Given the description of an element on the screen output the (x, y) to click on. 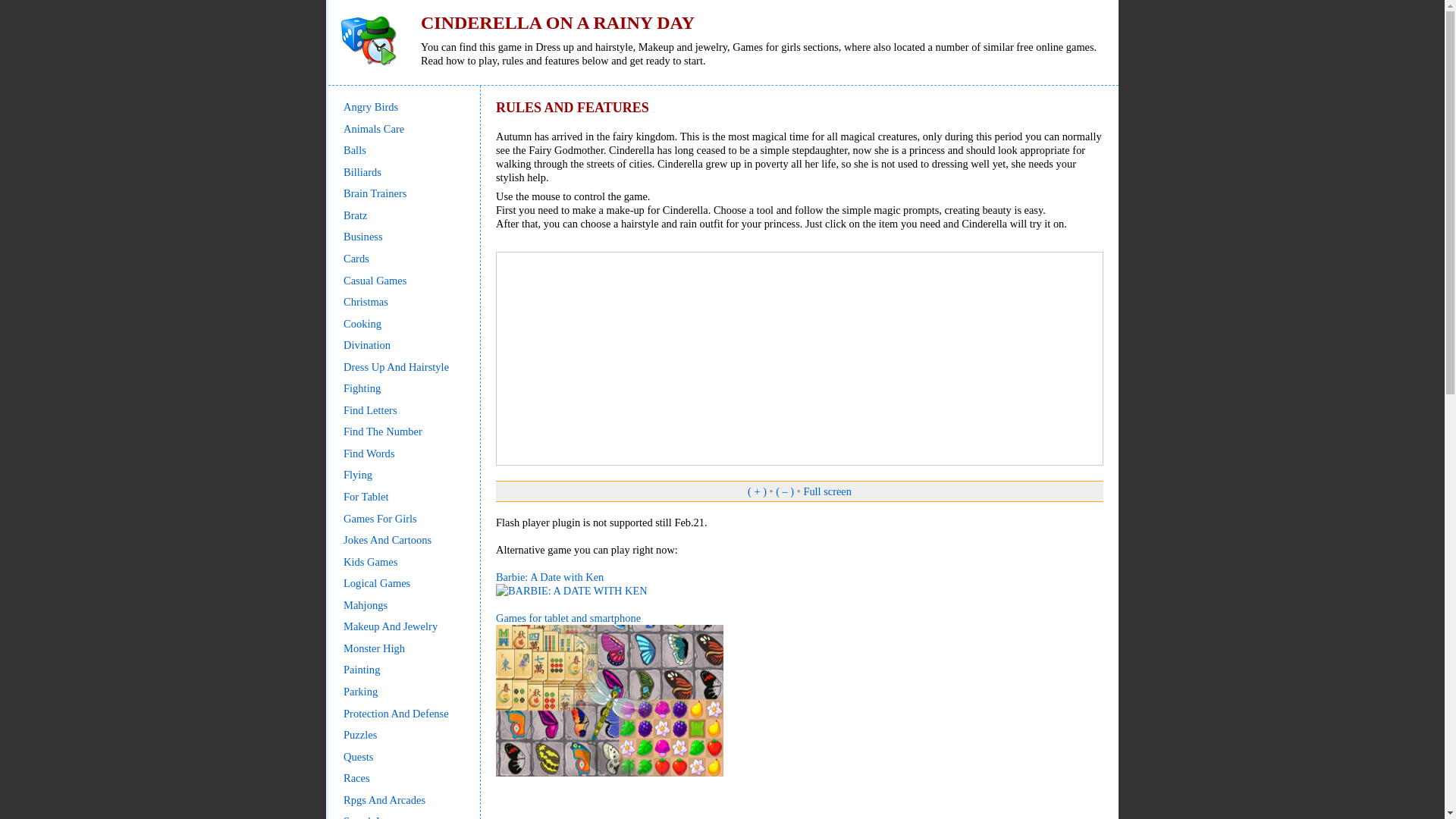
Business (362, 236)
Games for tablet and smartphone (609, 694)
Bratz (354, 215)
Angry Birds (370, 106)
Full screen (827, 491)
Decrease size (784, 491)
Brain Trainers (374, 193)
Increase size (757, 491)
Find Letters (370, 410)
Balls (354, 150)
